Given the description of an element on the screen output the (x, y) to click on. 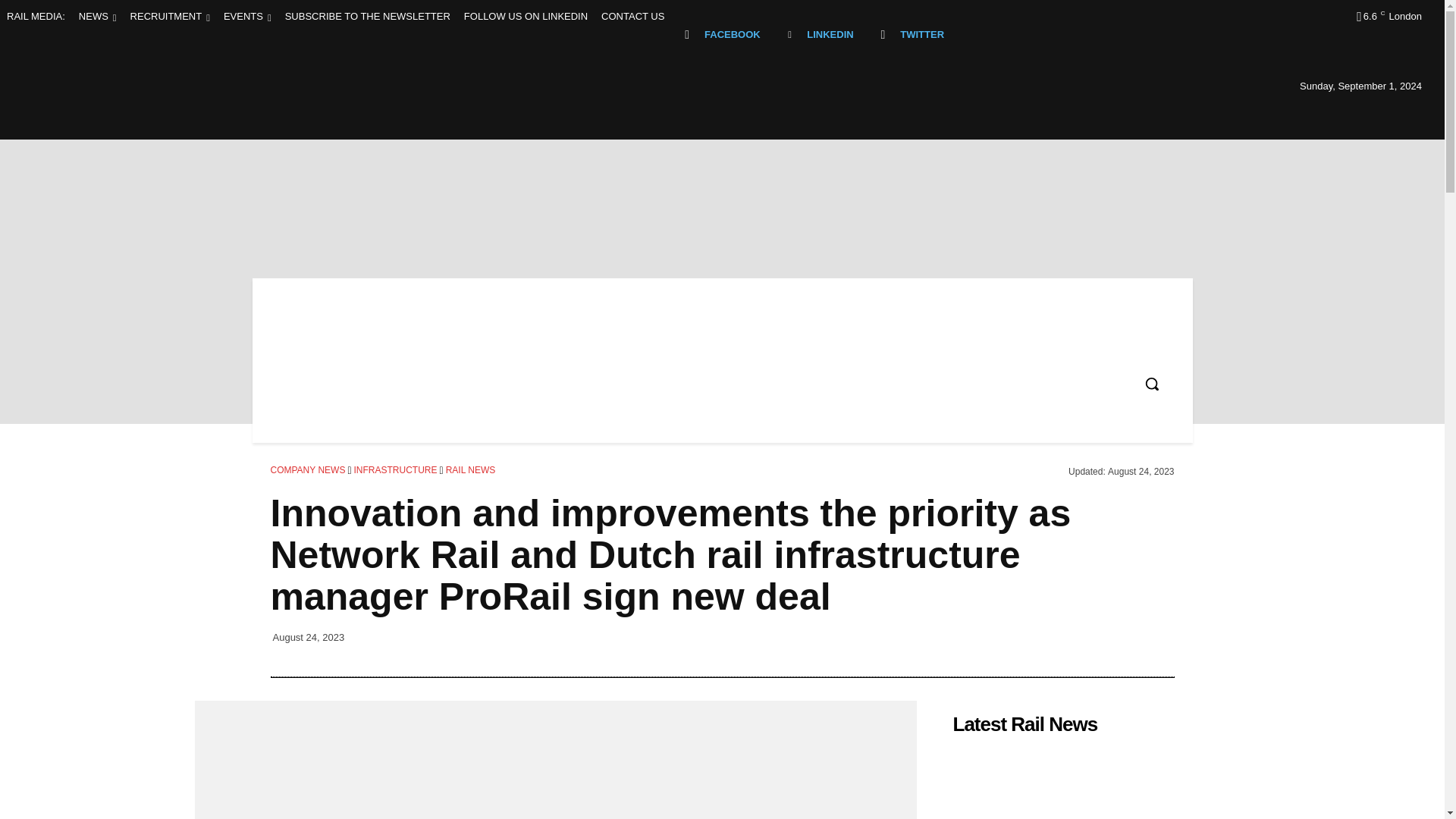
Rail UK (384, 196)
Linkedin (790, 34)
Rail UK (416, 196)
Facebook (687, 34)
Twitter (883, 34)
